Given the description of an element on the screen output the (x, y) to click on. 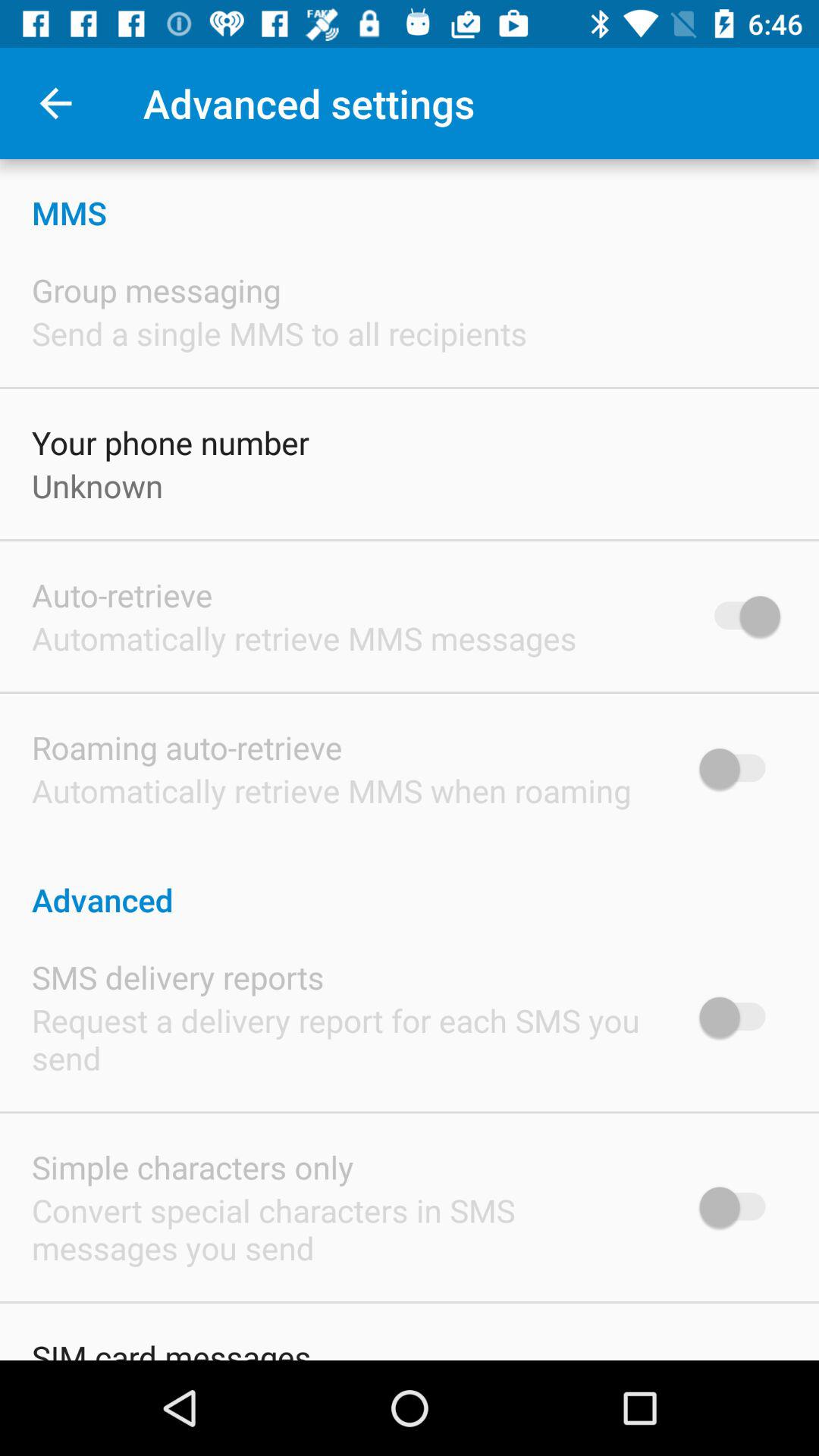
click the icon above the unknown icon (170, 442)
